Given the description of an element on the screen output the (x, y) to click on. 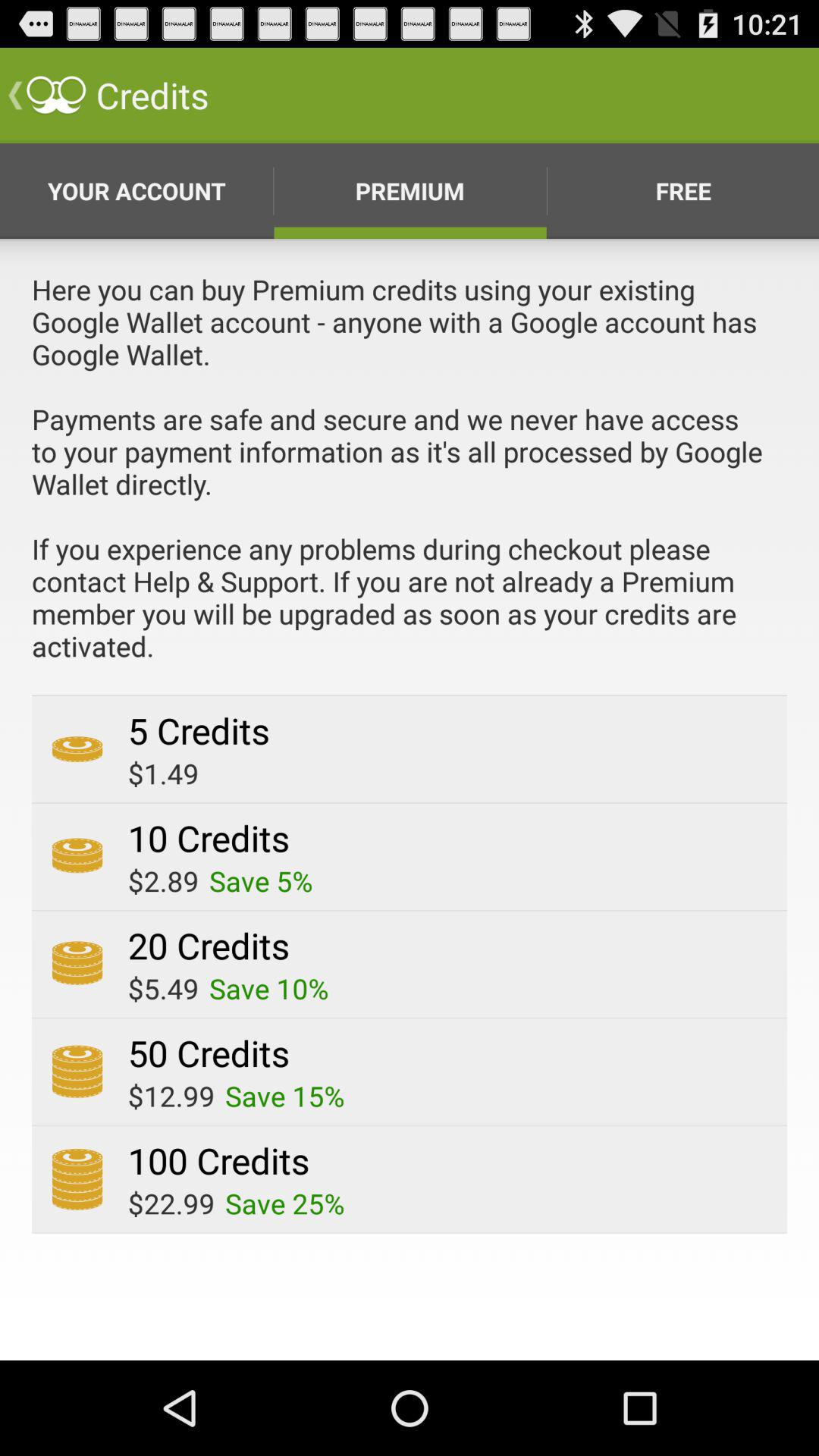
turn off the app above 20 credits icon (260, 880)
